Given the description of an element on the screen output the (x, y) to click on. 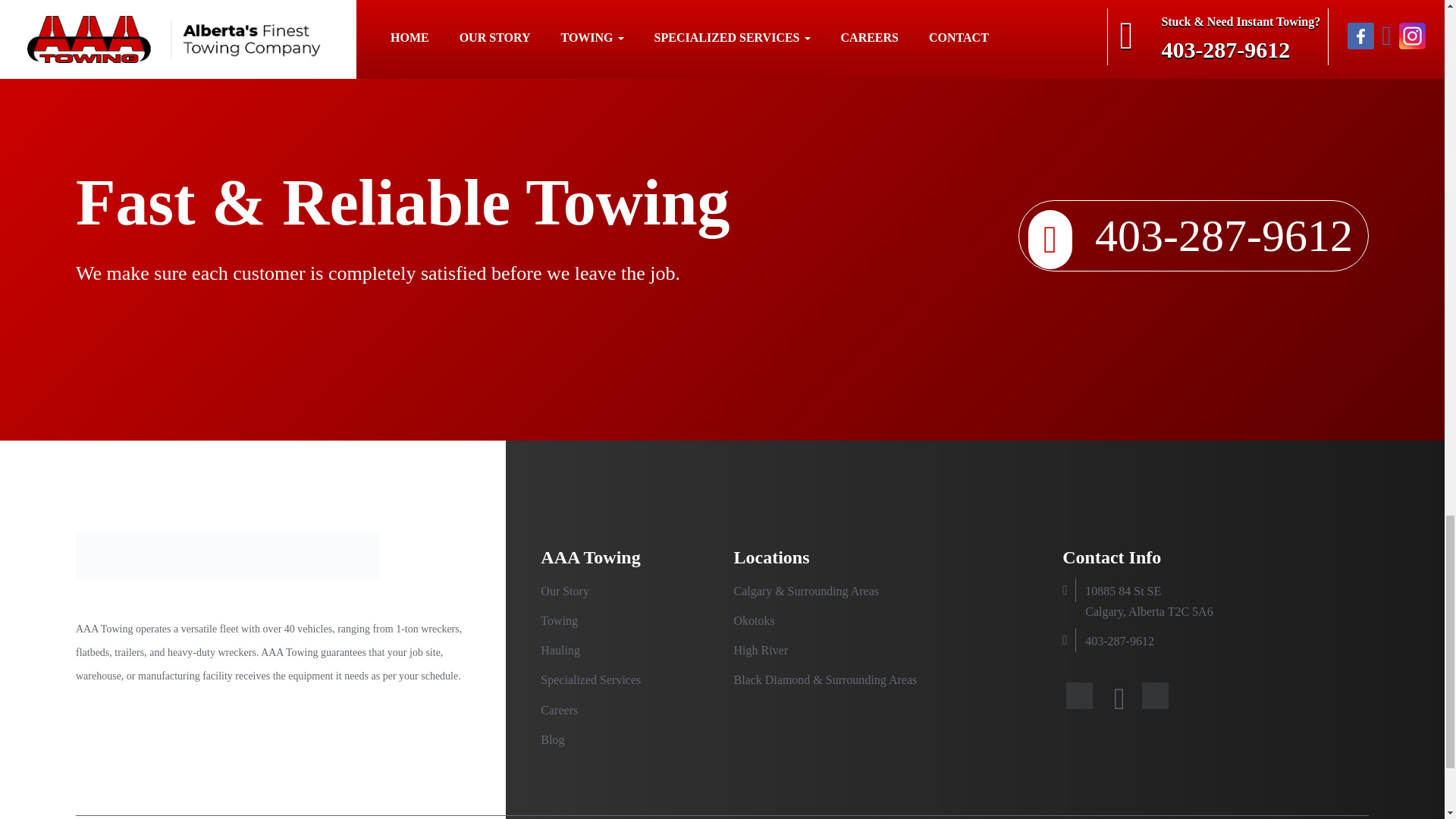
Hauling (559, 649)
Careers (559, 709)
403-287-9612 (1119, 640)
403-287-9612 (1192, 235)
Towing (559, 620)
Our Story (564, 590)
Blog (552, 739)
Specialized Services (590, 679)
